Given the description of an element on the screen output the (x, y) to click on. 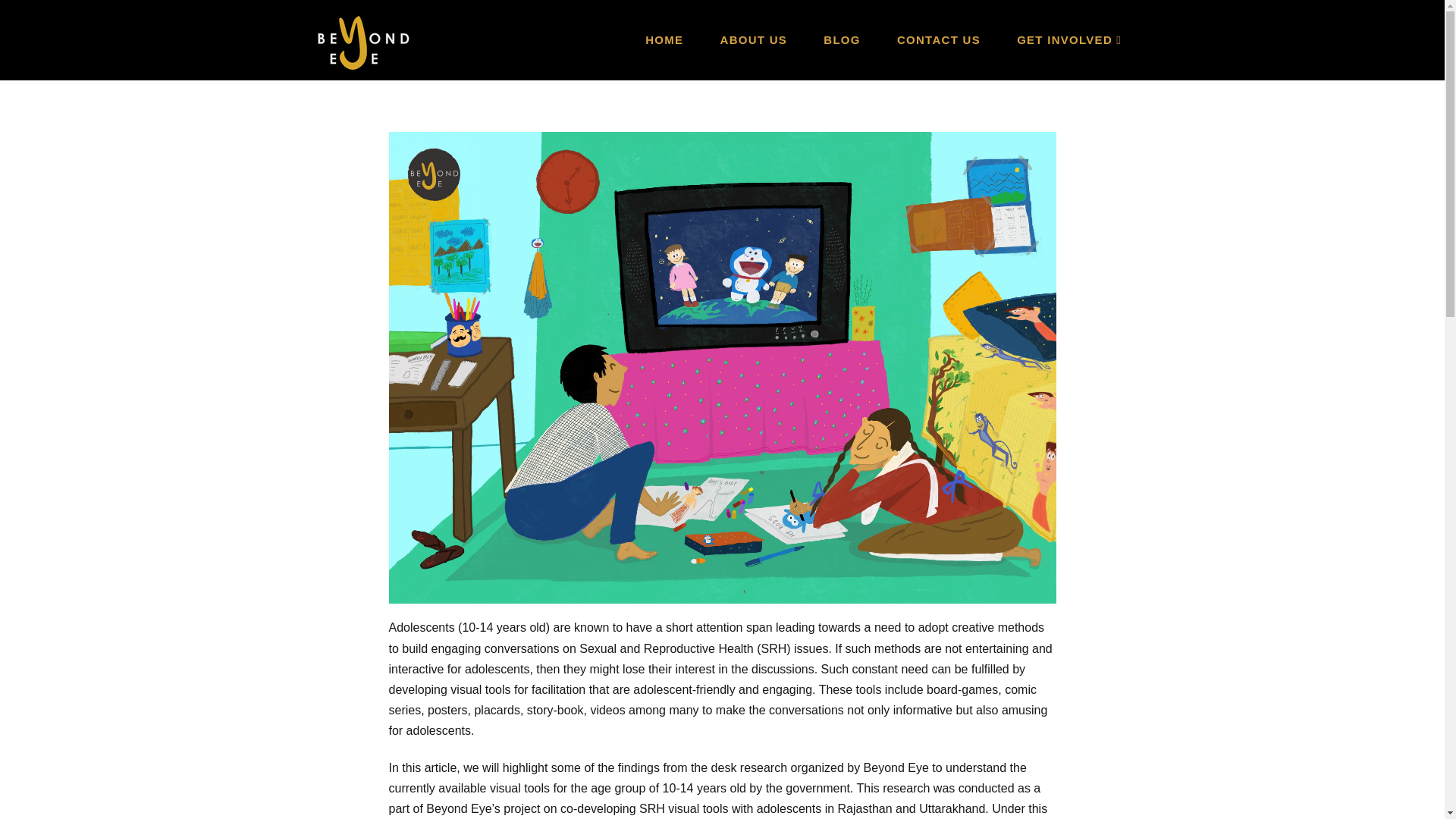
ABOUT US (753, 33)
HOME (663, 33)
CONTACT US (937, 33)
GET INVOLVED (1067, 33)
BLOG (842, 33)
